Given the description of an element on the screen output the (x, y) to click on. 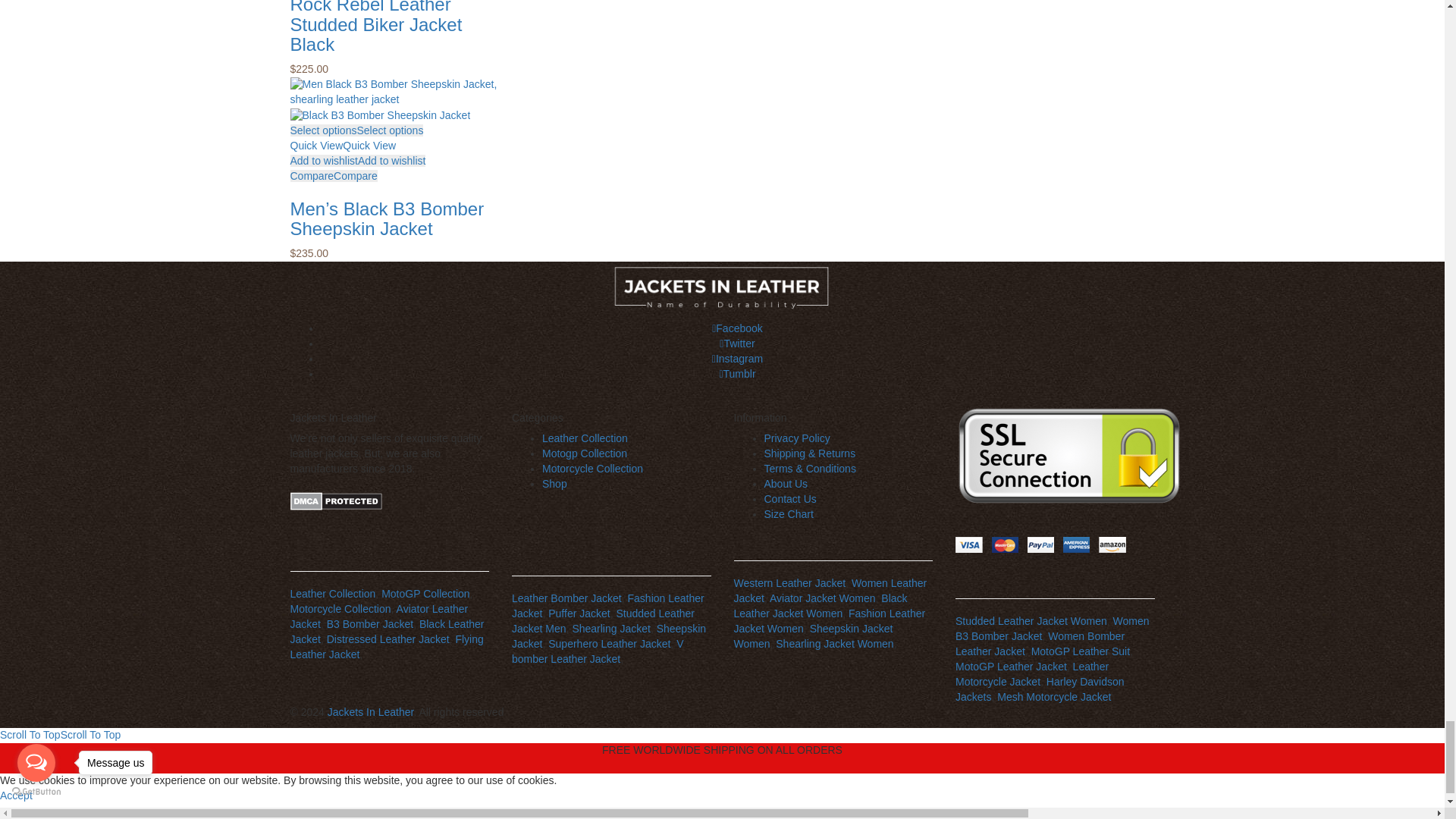
DMCA.com Protection Status (335, 500)
Toggle fullscreen (36, 814)
Jacket In Leather (721, 287)
Scroll To TopScroll To Top (60, 734)
Share (20, 814)
